Given the description of an element on the screen output the (x, y) to click on. 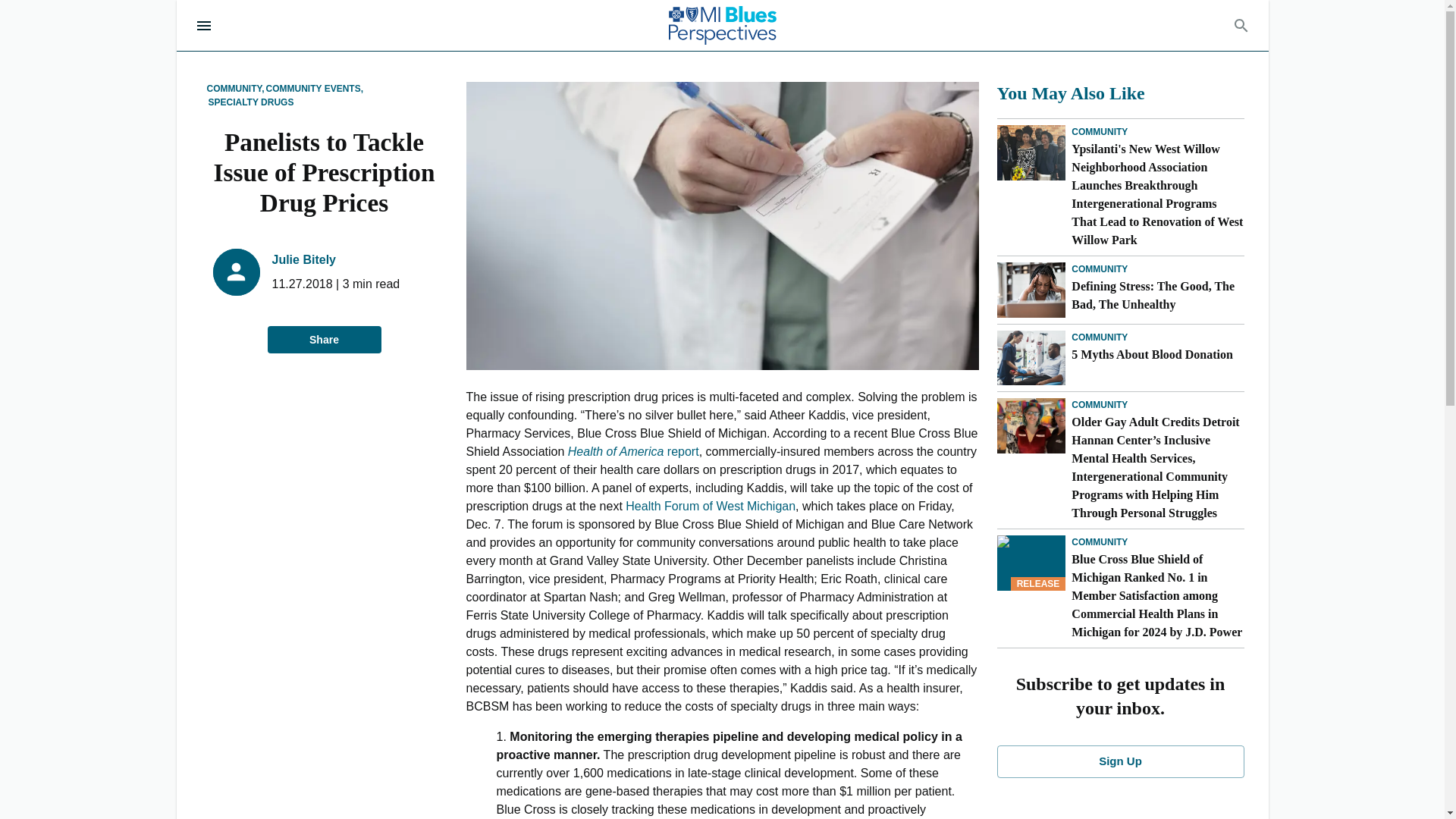
Sign Up (1119, 761)
COMMUNITY (1098, 336)
Health Forum of West Michigan (710, 505)
COMMUNITY (1098, 541)
RELEASE (1030, 562)
Share (323, 339)
SPECIALTY DRUGS (251, 101)
Health of America report (632, 451)
COMMUNITY (1098, 404)
COMMUNITY, (234, 88)
COMMUNITY (1098, 269)
5 Myths About Blood Donation  (1157, 354)
Defining Stress: The Good, The Bad, The Unhealthy (1157, 295)
